Given the description of an element on the screen output the (x, y) to click on. 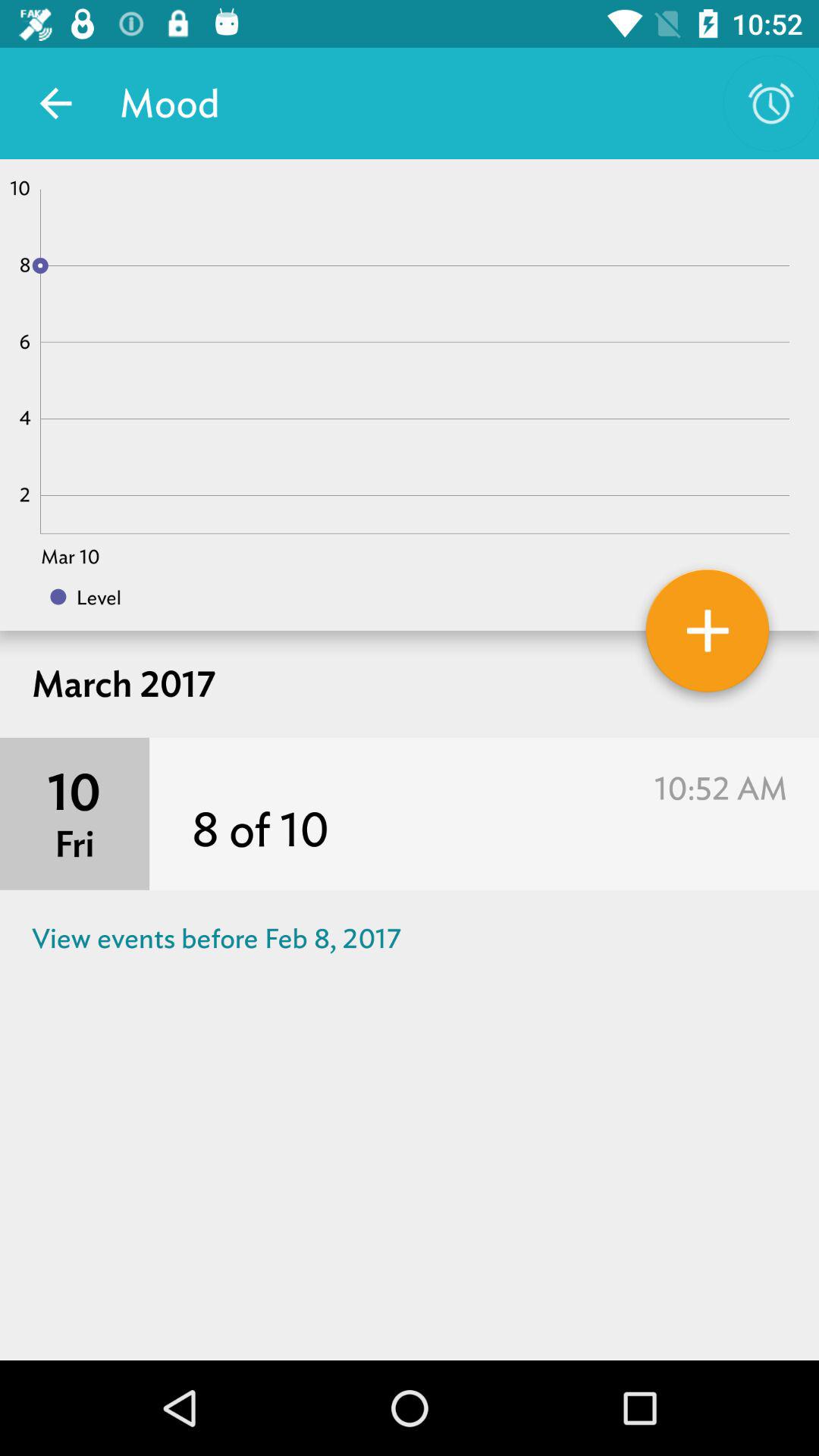
add mood for day (707, 636)
